Given the description of an element on the screen output the (x, y) to click on. 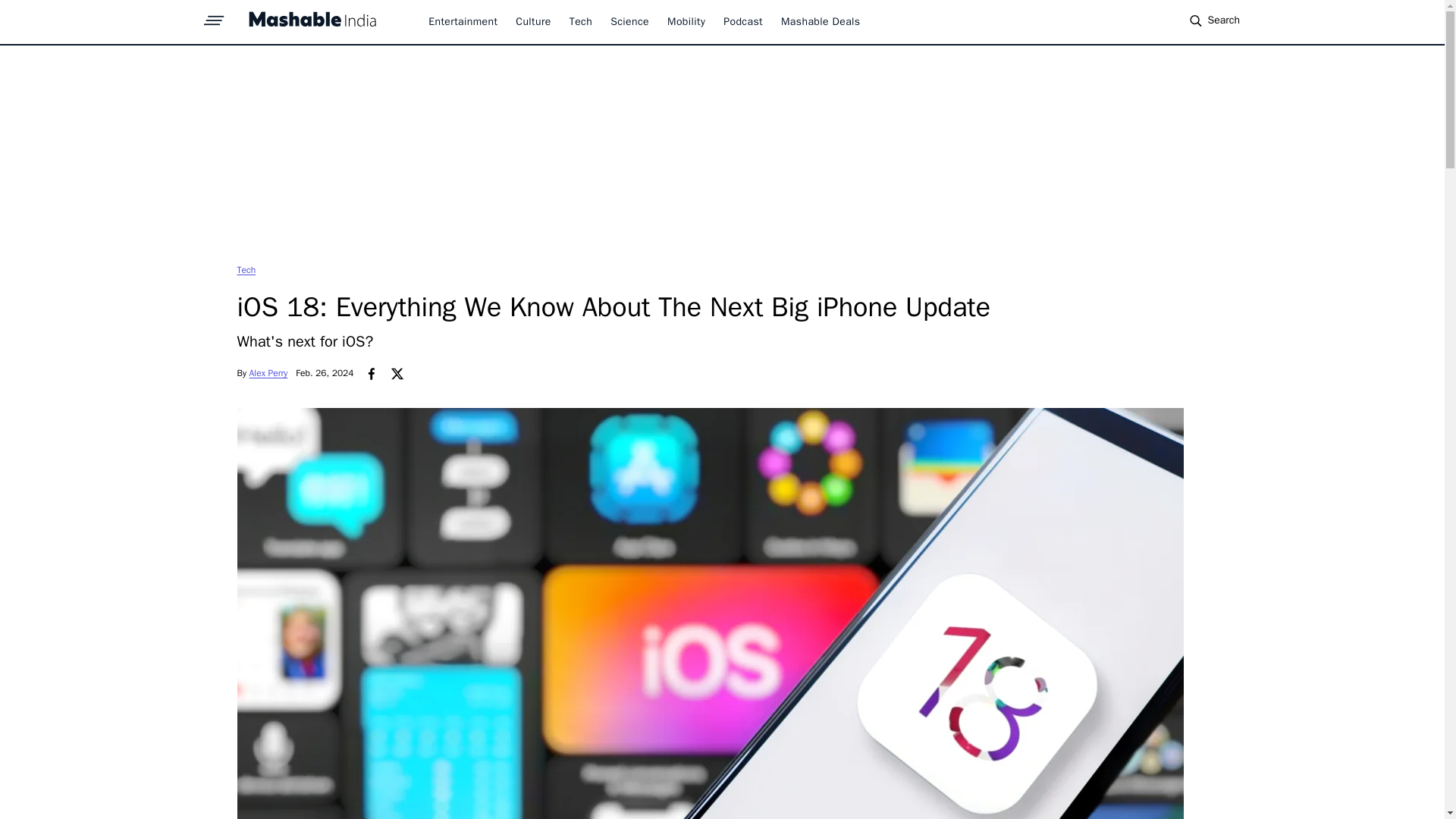
Culture (532, 21)
Science (629, 21)
Alex Perry (268, 372)
Entertainment (462, 21)
Mobility (685, 21)
Tech (245, 269)
Mashable Deals (820, 21)
Tech (580, 21)
sprite-hamburger (213, 16)
Podcast (742, 21)
Tech (245, 269)
